Given the description of an element on the screen output the (x, y) to click on. 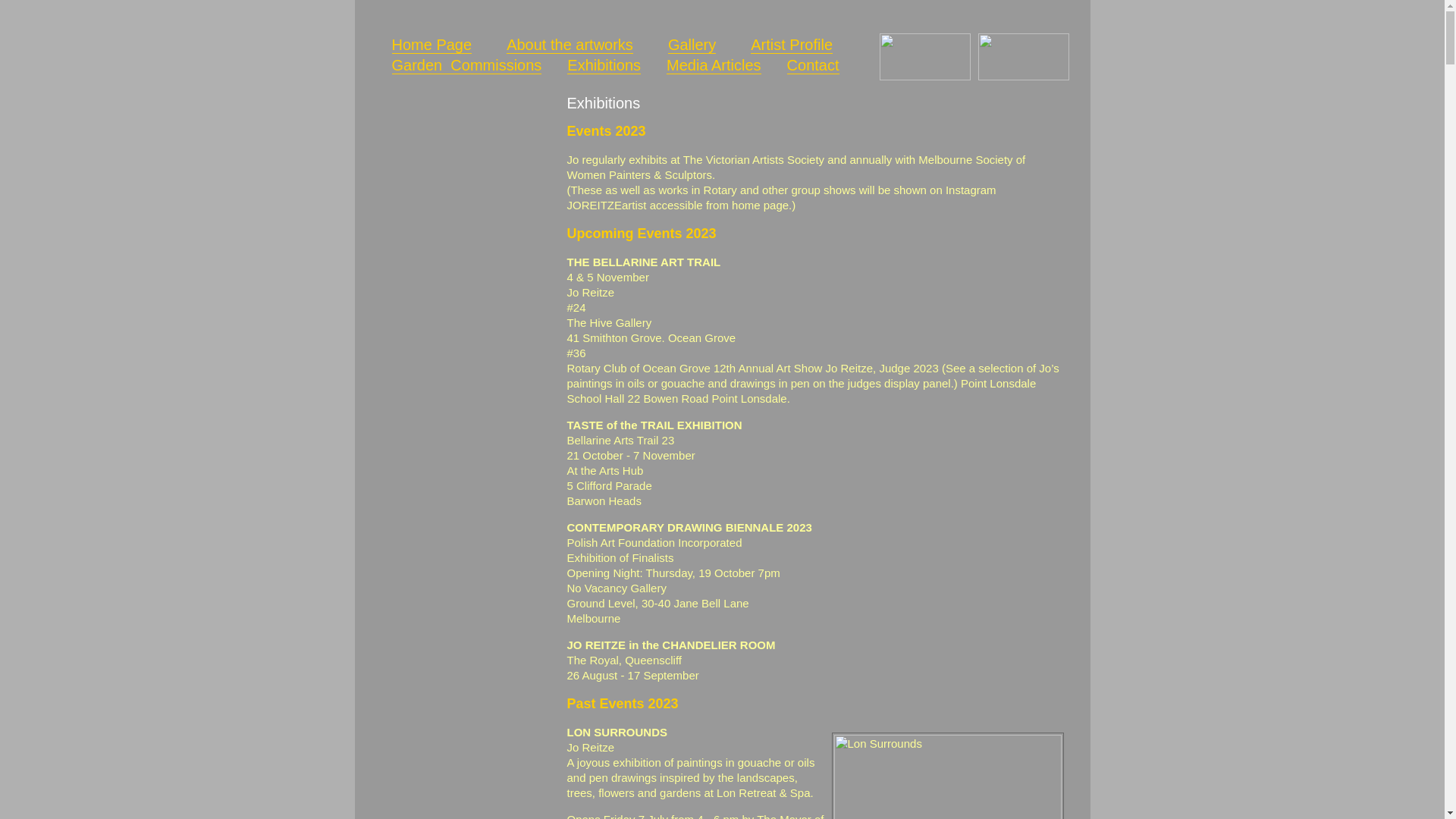
Jo Reitze - Paints Your Garden Element type: text (460, 245)
Gallery Element type: text (691, 44)
Contact Element type: text (813, 65)
Exhibitions Element type: text (603, 65)
Media Articles Element type: text (713, 65)
About the artworks Element type: text (569, 44)
Artist Profile Element type: text (791, 44)
Home Page Element type: text (431, 44)
Garden  Commissions Element type: text (466, 65)
share this page Element type: text (1019, 99)
